Given the description of an element on the screen output the (x, y) to click on. 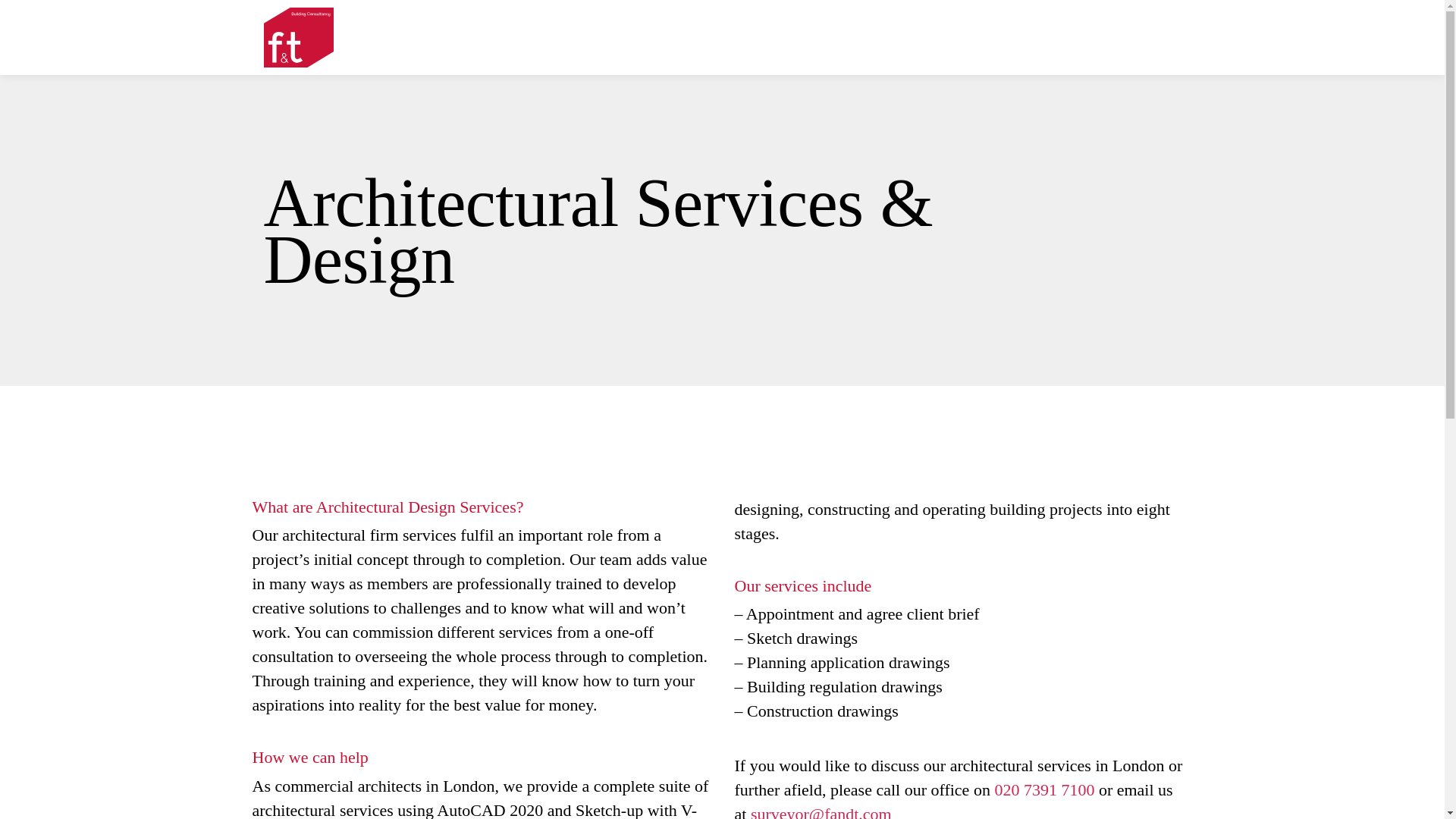
Construction drawings (822, 710)
Building regulation drawings (844, 686)
Appointment and agree client brief (862, 613)
Planning application drawings (848, 661)
020 7391 7100 (1044, 789)
Sketch drawings (801, 637)
